Given the description of an element on the screen output the (x, y) to click on. 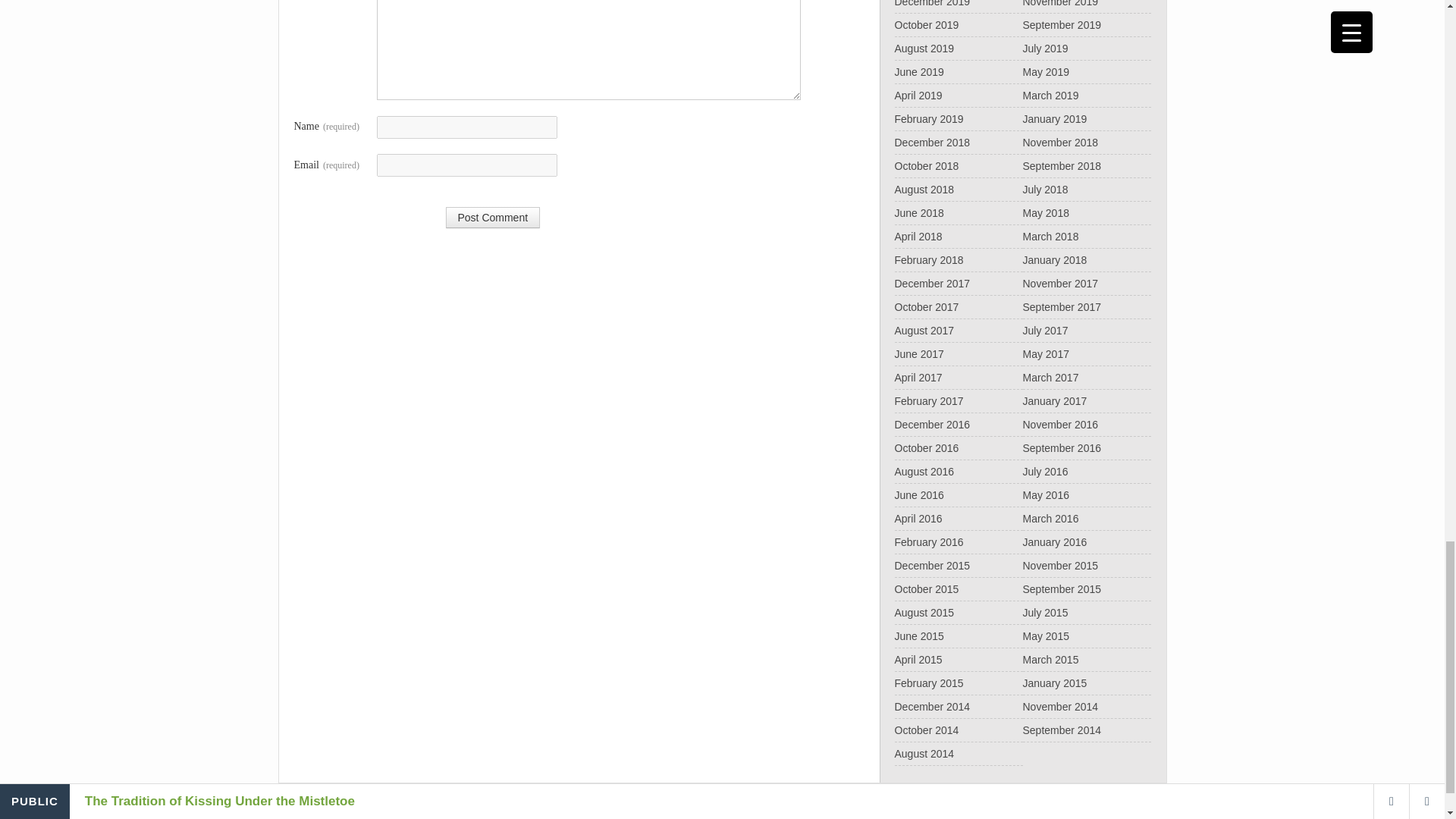
Post Comment (492, 217)
Post Comment (492, 217)
